Given the description of an element on the screen output the (x, y) to click on. 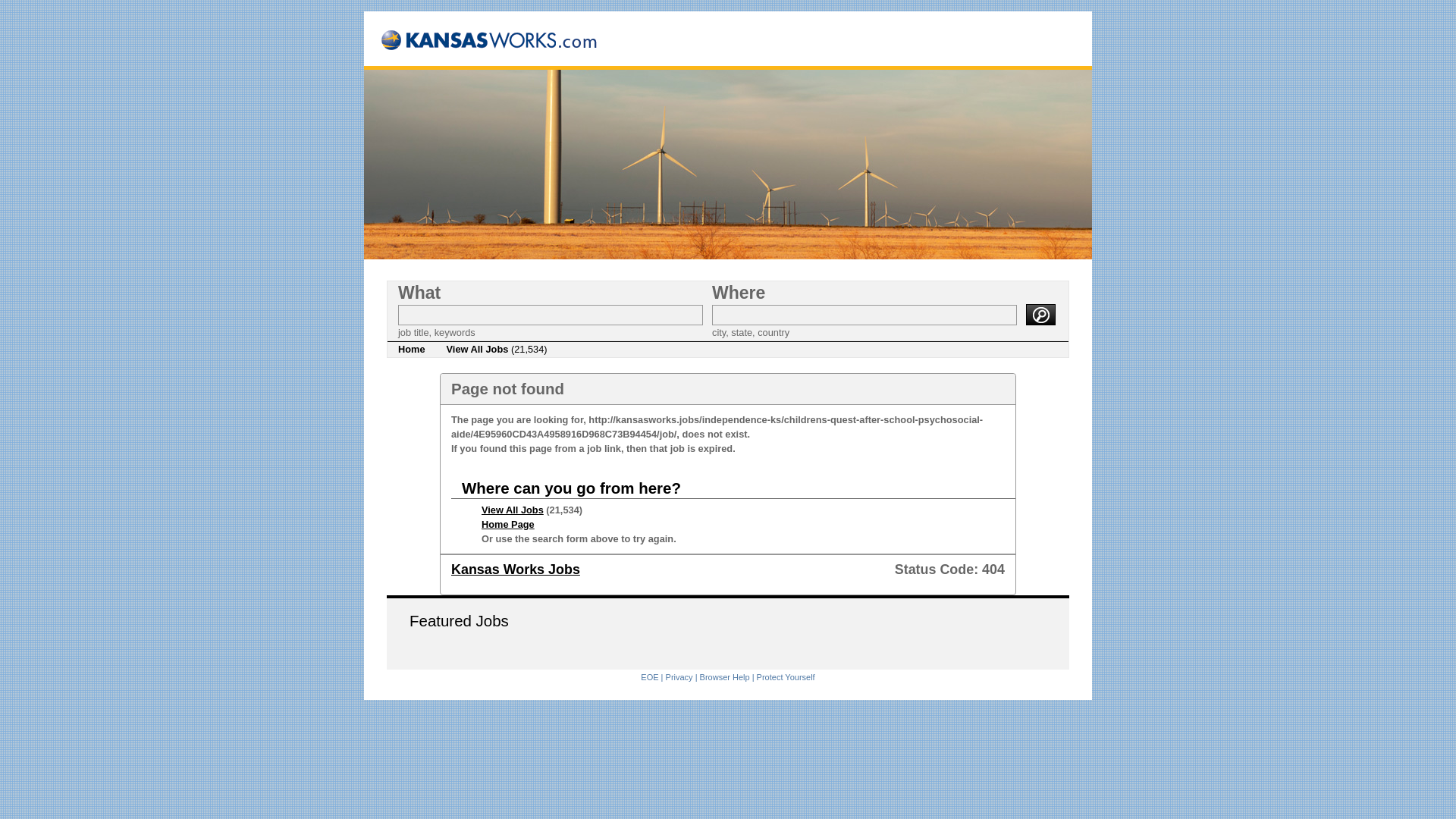
Submit Search (1040, 314)
Kansas Works Jobs (515, 569)
search (1040, 314)
Protect Yourself (786, 675)
Home (411, 349)
Privacy (679, 675)
Search Location (863, 314)
search (1040, 314)
Home Page (507, 523)
View All Jobs (512, 509)
Browser Help (724, 675)
EOE (649, 675)
Search Phrase (550, 314)
